Given the description of an element on the screen output the (x, y) to click on. 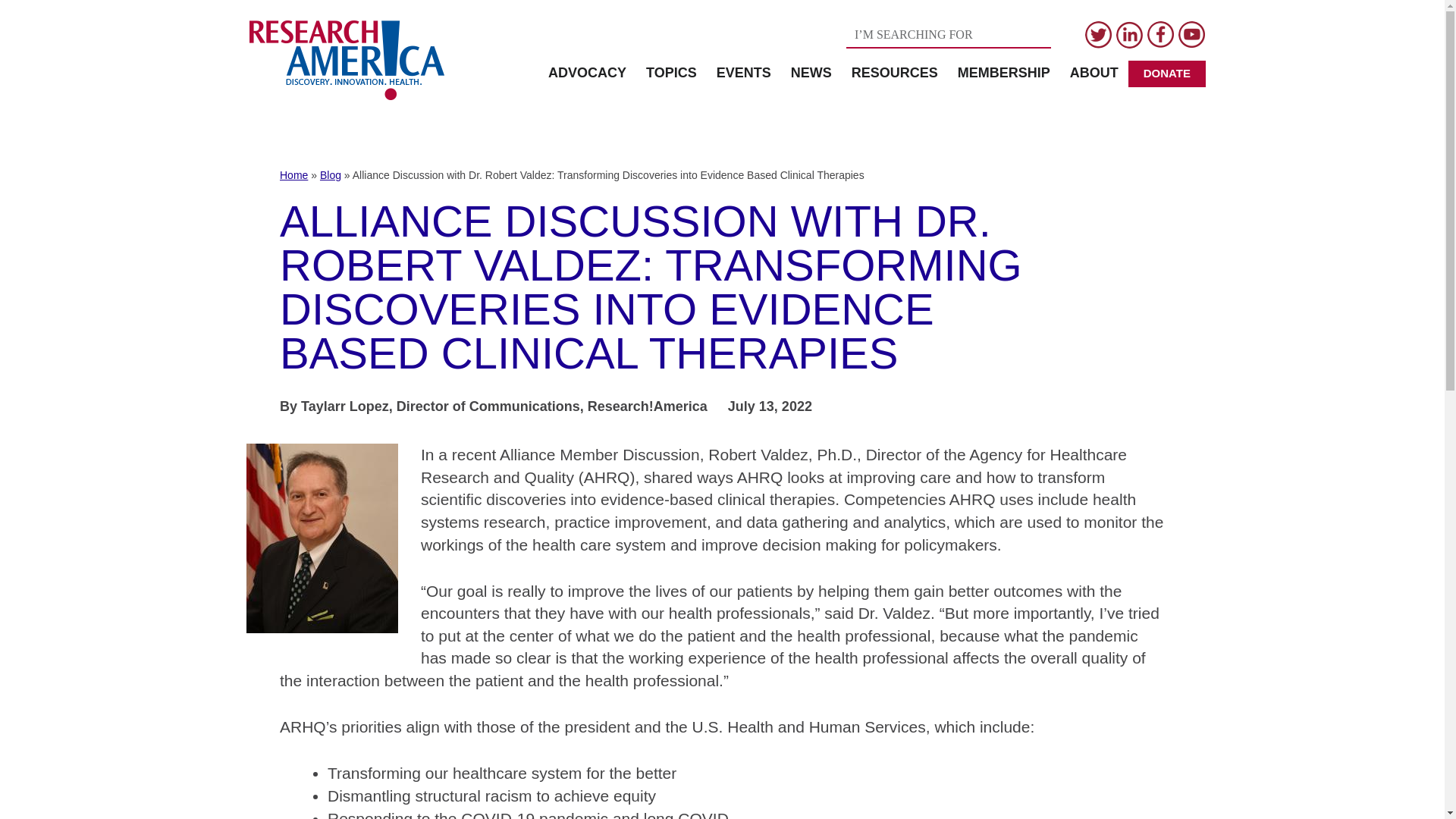
RESOURCES (894, 73)
EVENTS (743, 73)
ADVOCACY (587, 73)
NEWS (810, 73)
TOPICS (671, 73)
